Given the description of an element on the screen output the (x, y) to click on. 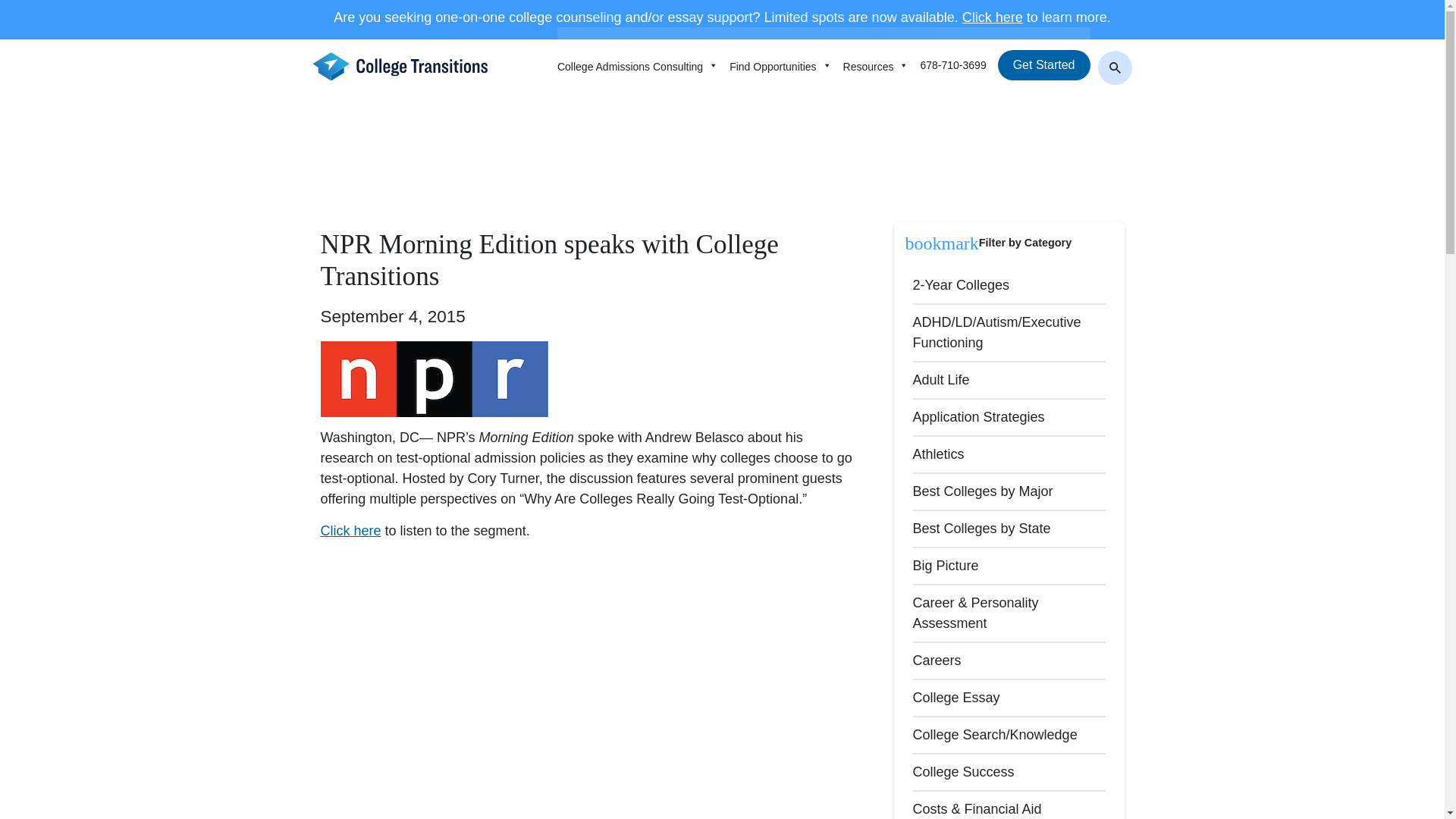
2-Year Colleges (960, 284)
Best Colleges by Major (982, 491)
Application Strategies (978, 417)
Adult Life (940, 379)
678-710-3699 (958, 64)
Click here (350, 530)
Get Started (1043, 64)
Click here (992, 17)
Athletics (937, 453)
College Admissions Consulting (643, 64)
